Given the description of an element on the screen output the (x, y) to click on. 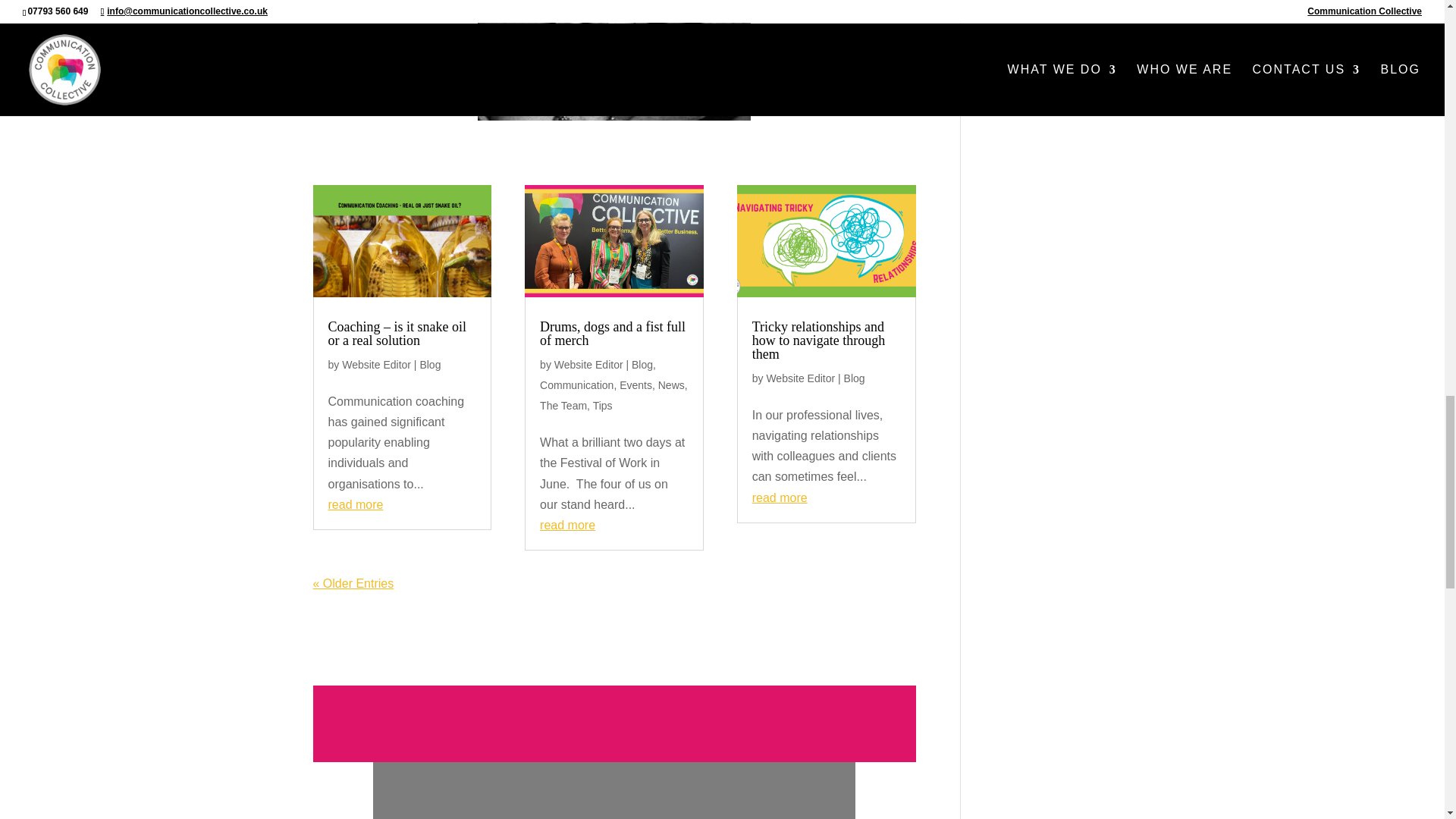
Posts by Website Editor (376, 364)
Posts by Website Editor (588, 364)
Posts by Website Editor (799, 378)
